Given the description of an element on the screen output the (x, y) to click on. 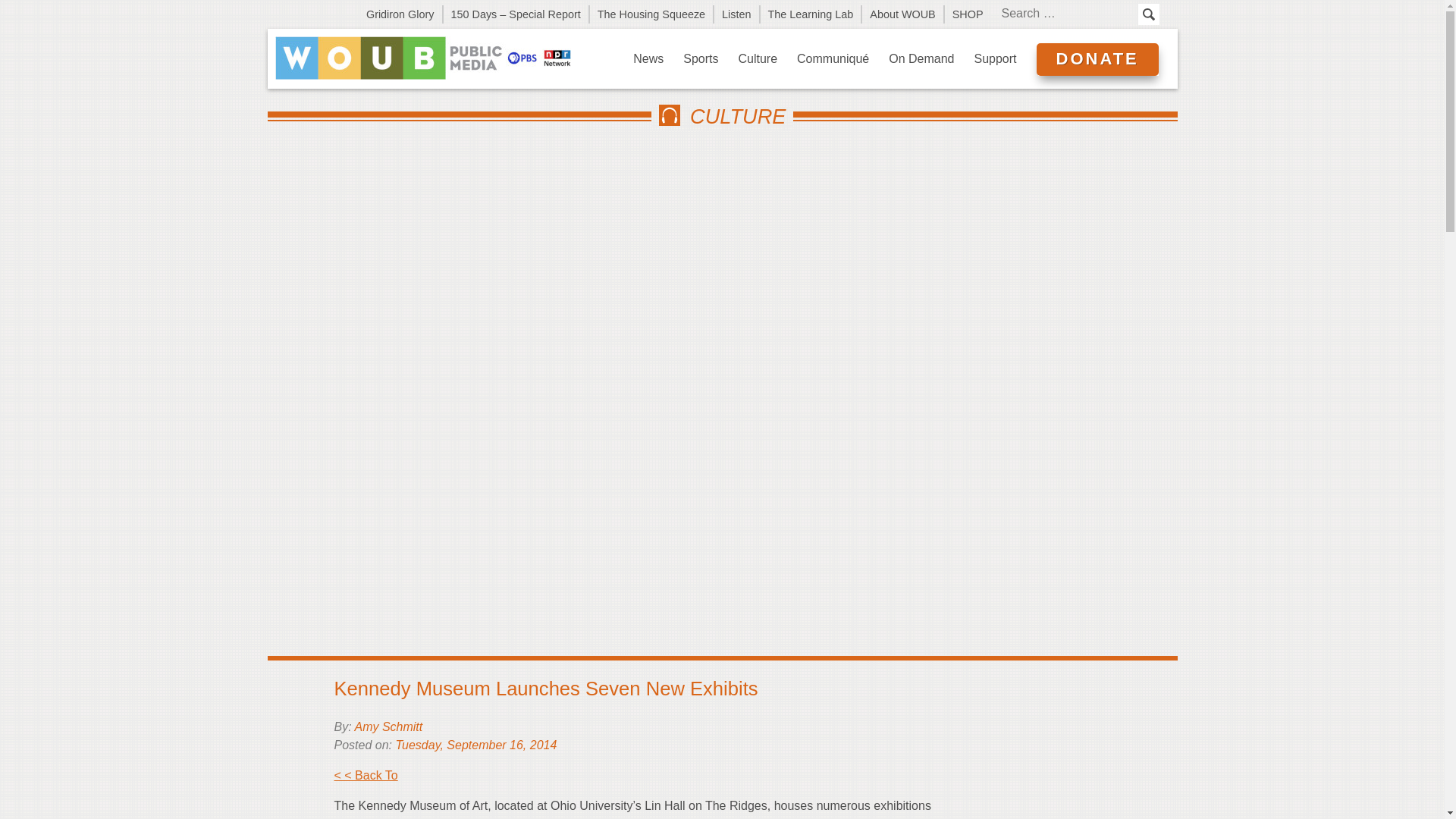
On Demand (921, 58)
Support (994, 58)
culture (757, 58)
Gridiron Glory (401, 13)
DONATE (1096, 59)
Search for: (1067, 13)
sports (700, 58)
SHOP (967, 13)
The Housing Squeeze (651, 13)
The Learning Lab (810, 13)
Tuesday, September 16, 2014 (475, 744)
Culture (757, 58)
Listen (737, 13)
About WOUB (902, 13)
donate (1096, 59)
